Given the description of an element on the screen output the (x, y) to click on. 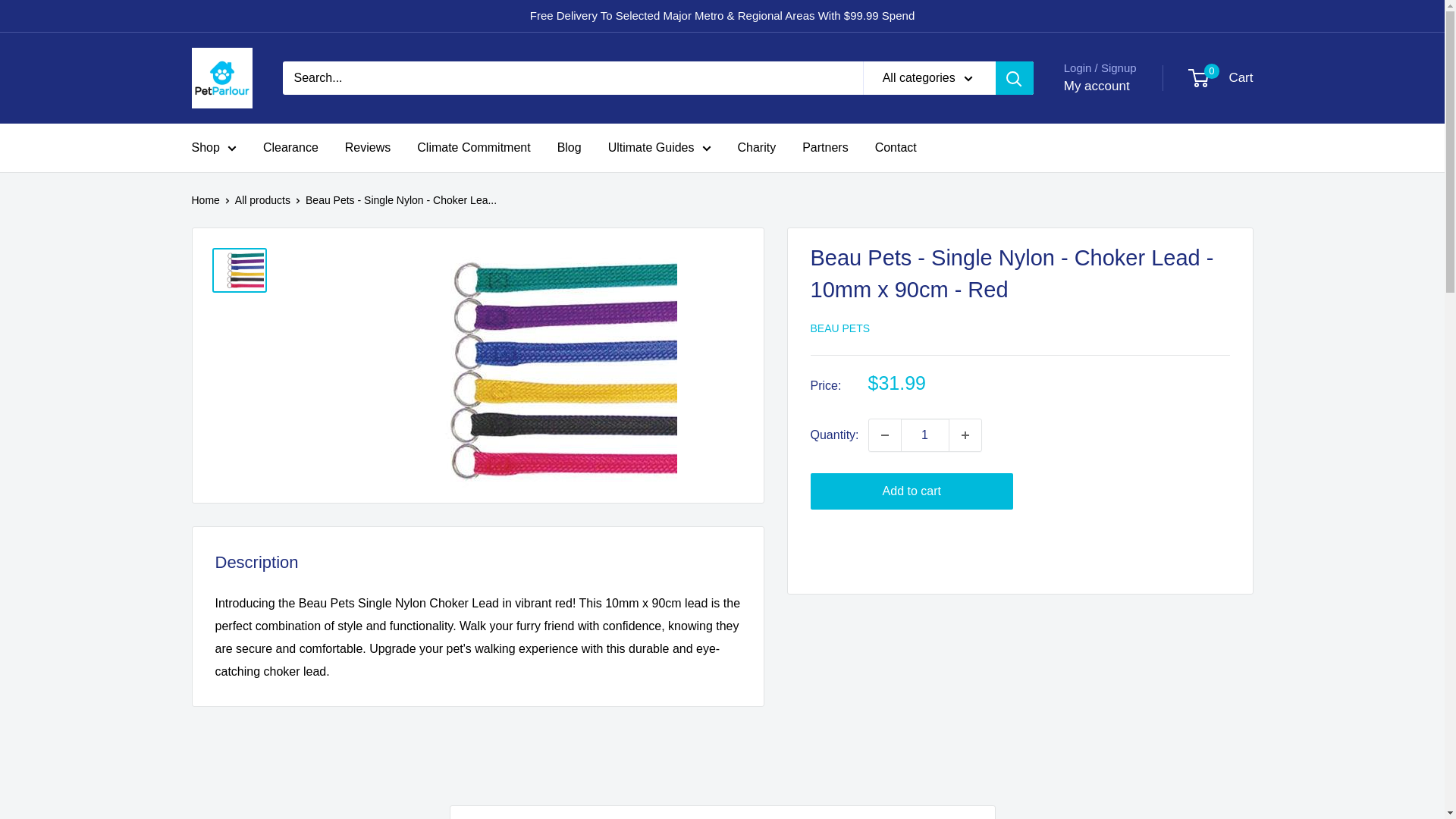
1 (925, 435)
Decrease quantity by 1 (885, 435)
Increase quantity by 1 (965, 435)
